Given the description of an element on the screen output the (x, y) to click on. 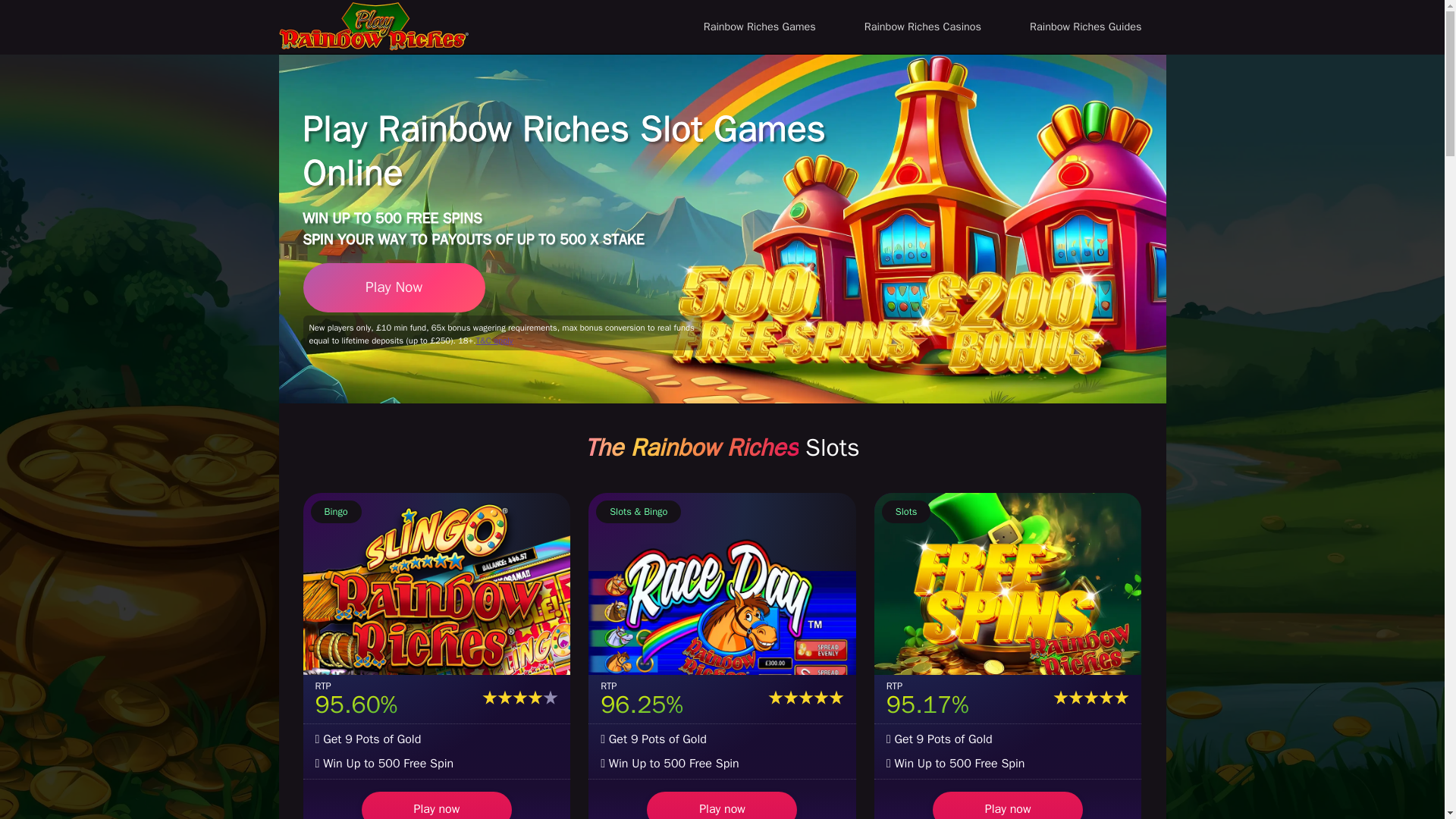
Play Rainbow Riches (373, 26)
Slingo Rainbow Riches (436, 583)
Play Rainbow Riches Now (393, 287)
Play now (436, 805)
Rainbow Riches Casinos (923, 27)
Play now (721, 805)
Rainbow Riches Games (759, 27)
Play now (1008, 805)
Play Now (393, 287)
Rainbow Riches Free Spins (1008, 583)
Rainbow Riches Race Day (722, 583)
Rainbow Riches Guides (1086, 27)
